Given the description of an element on the screen output the (x, y) to click on. 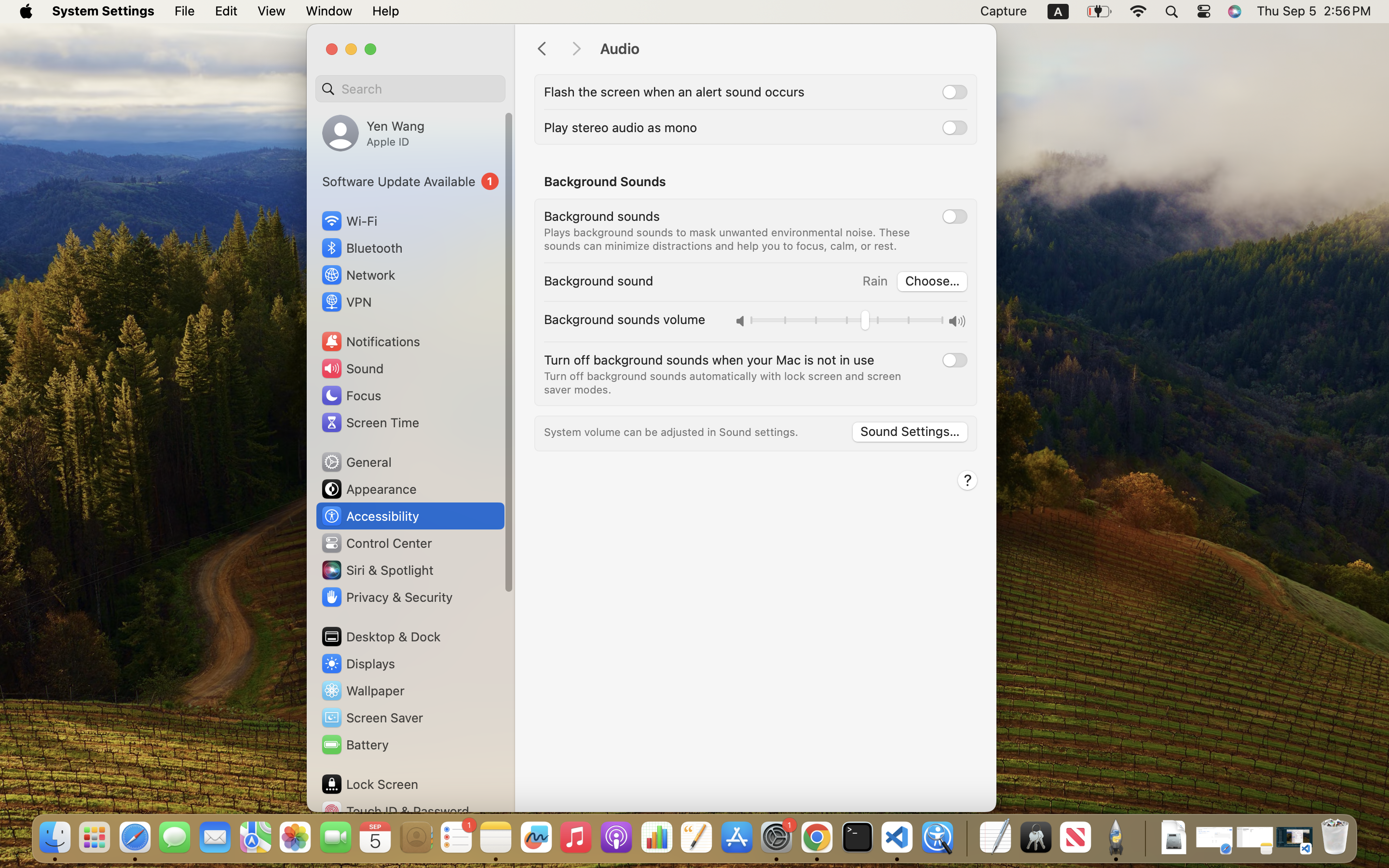
Plays background sounds to mask unwanted environmental noise. These sounds can minimize distractions and help you to focus, calm, or rest. Element type: AXStaticText (728, 238)
General Element type: AXStaticText (355, 461)
Background sounds Element type: AXStaticText (601, 215)
Notifications Element type: AXStaticText (370, 340)
Wi‑Fi Element type: AXStaticText (348, 220)
